Given the description of an element on the screen output the (x, y) to click on. 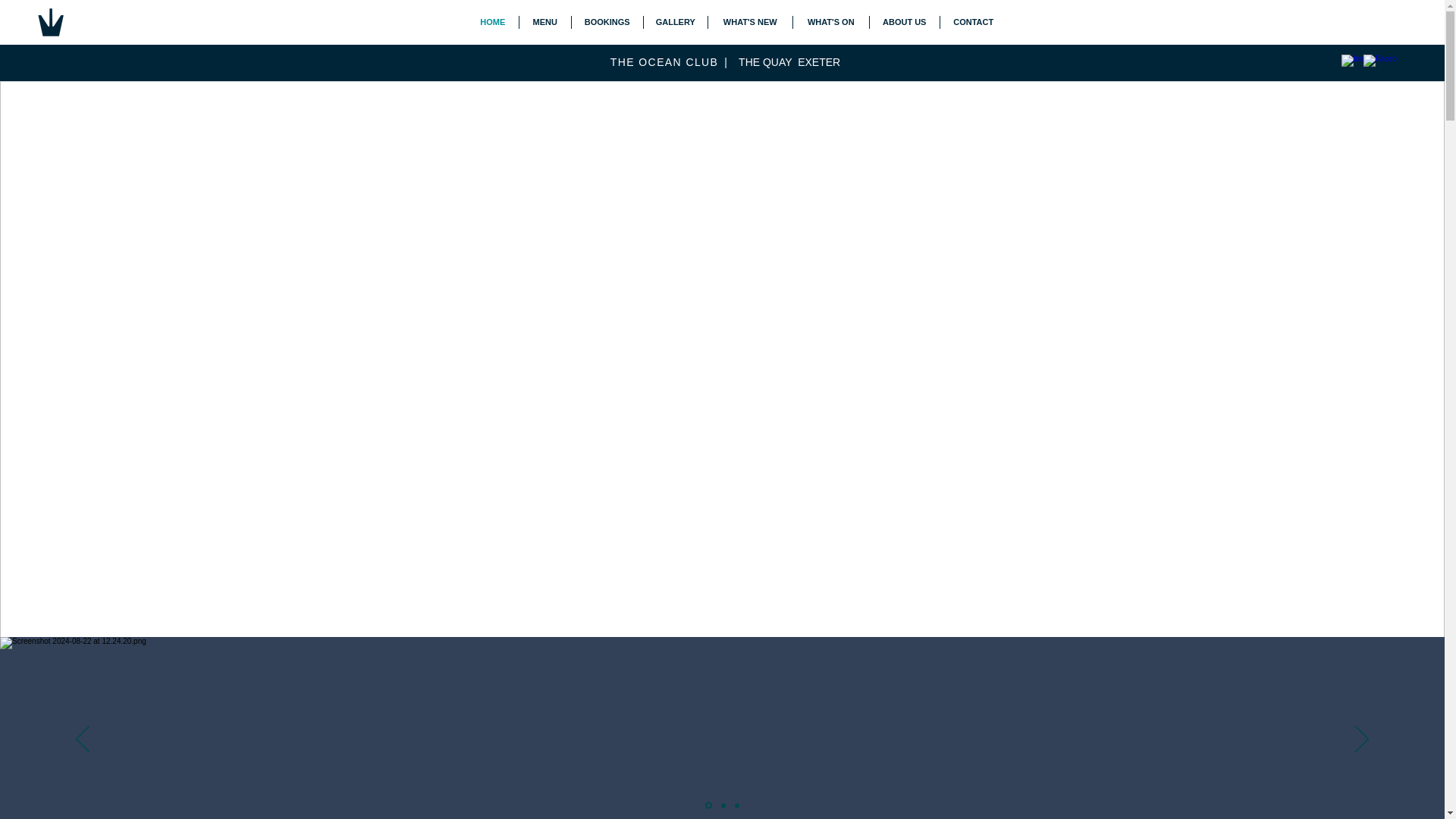
ABOUT US (904, 21)
MENU (544, 21)
BOOKINGS (607, 21)
GALLERY (675, 21)
CONTACT (973, 21)
HOME (492, 21)
WHAT'S ON (831, 21)
WHAT'S NEW (749, 21)
